Given the description of an element on the screen output the (x, y) to click on. 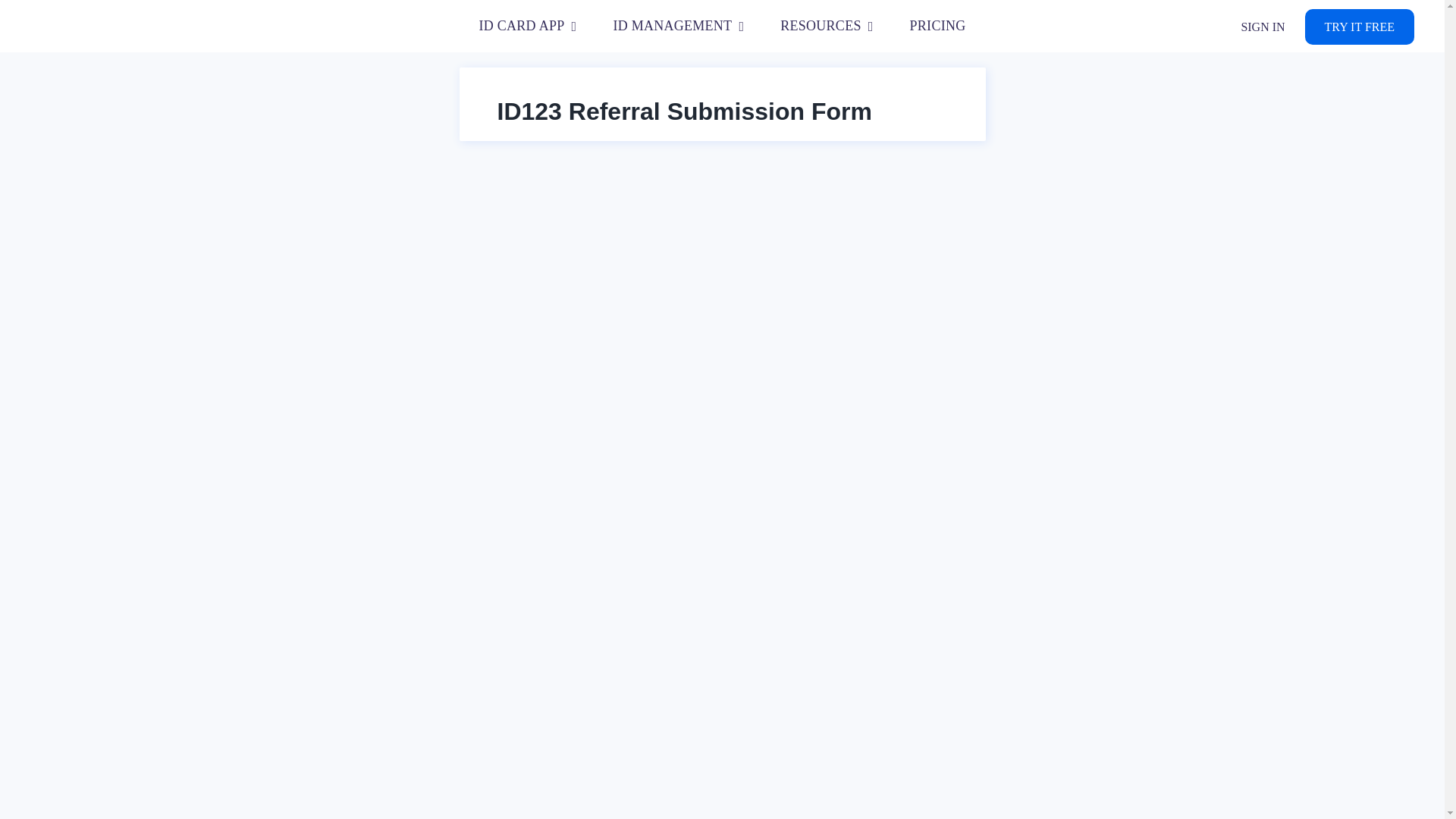
ID CARD APP (527, 27)
RESOURCES (826, 27)
ID MANAGEMENT (678, 27)
